Given the description of an element on the screen output the (x, y) to click on. 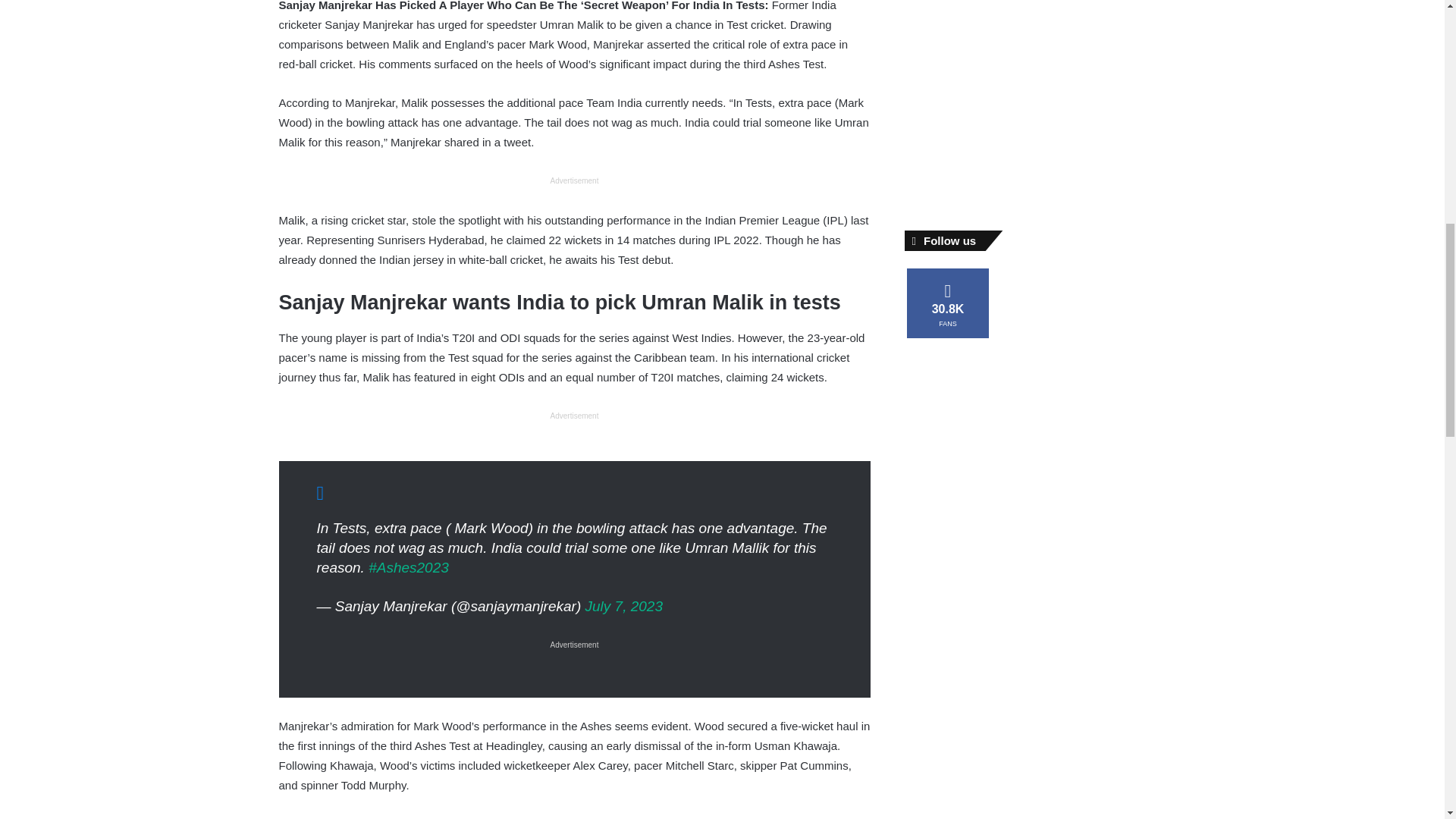
July 7, 2023 (623, 606)
